Given the description of an element on the screen output the (x, y) to click on. 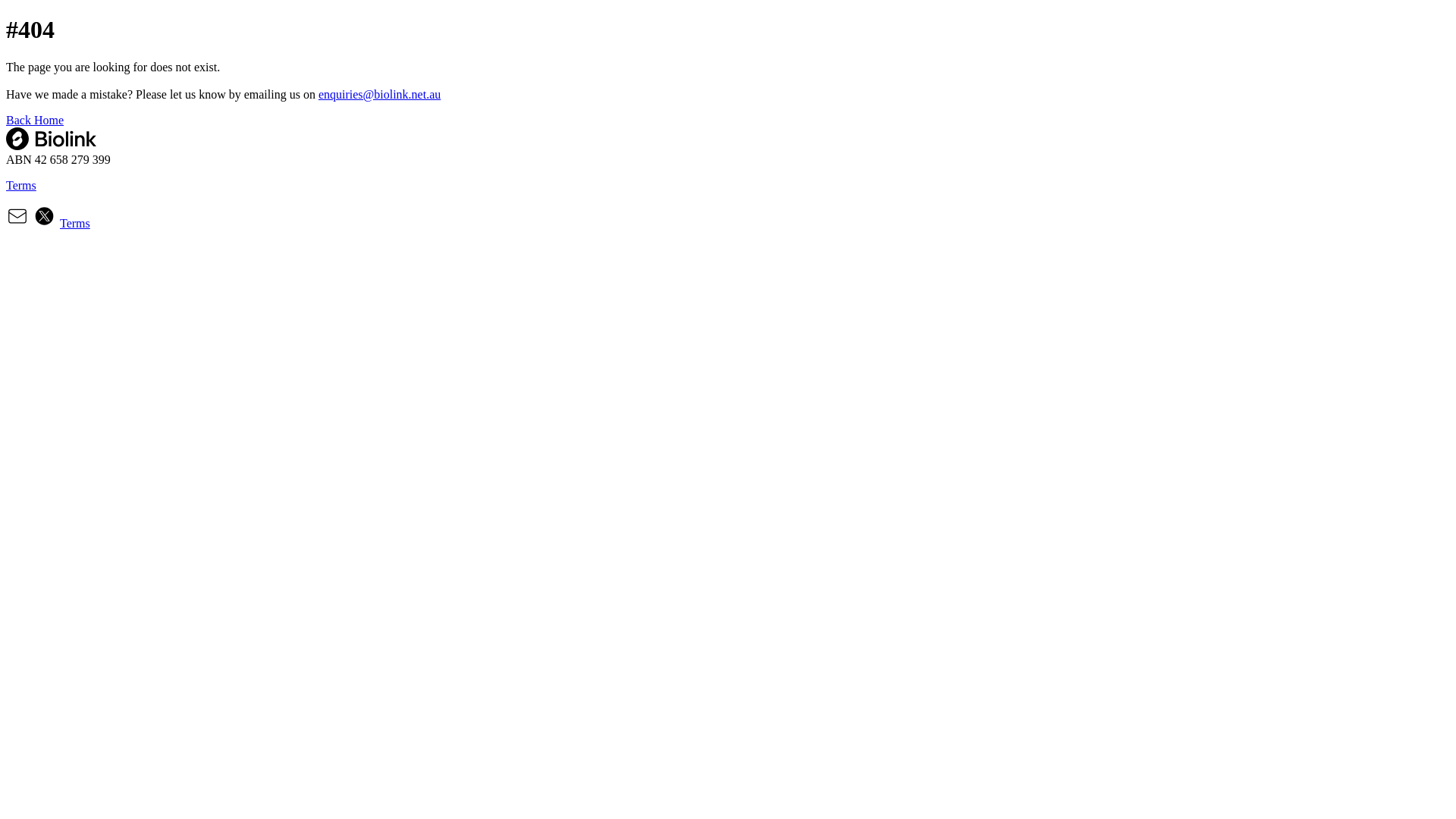
Back Home Element type: text (34, 119)
Terms Element type: text (727, 203)
Terms Element type: text (74, 222)
enquiries@biolink.net.au Element type: text (379, 93)
